Given the description of an element on the screen output the (x, y) to click on. 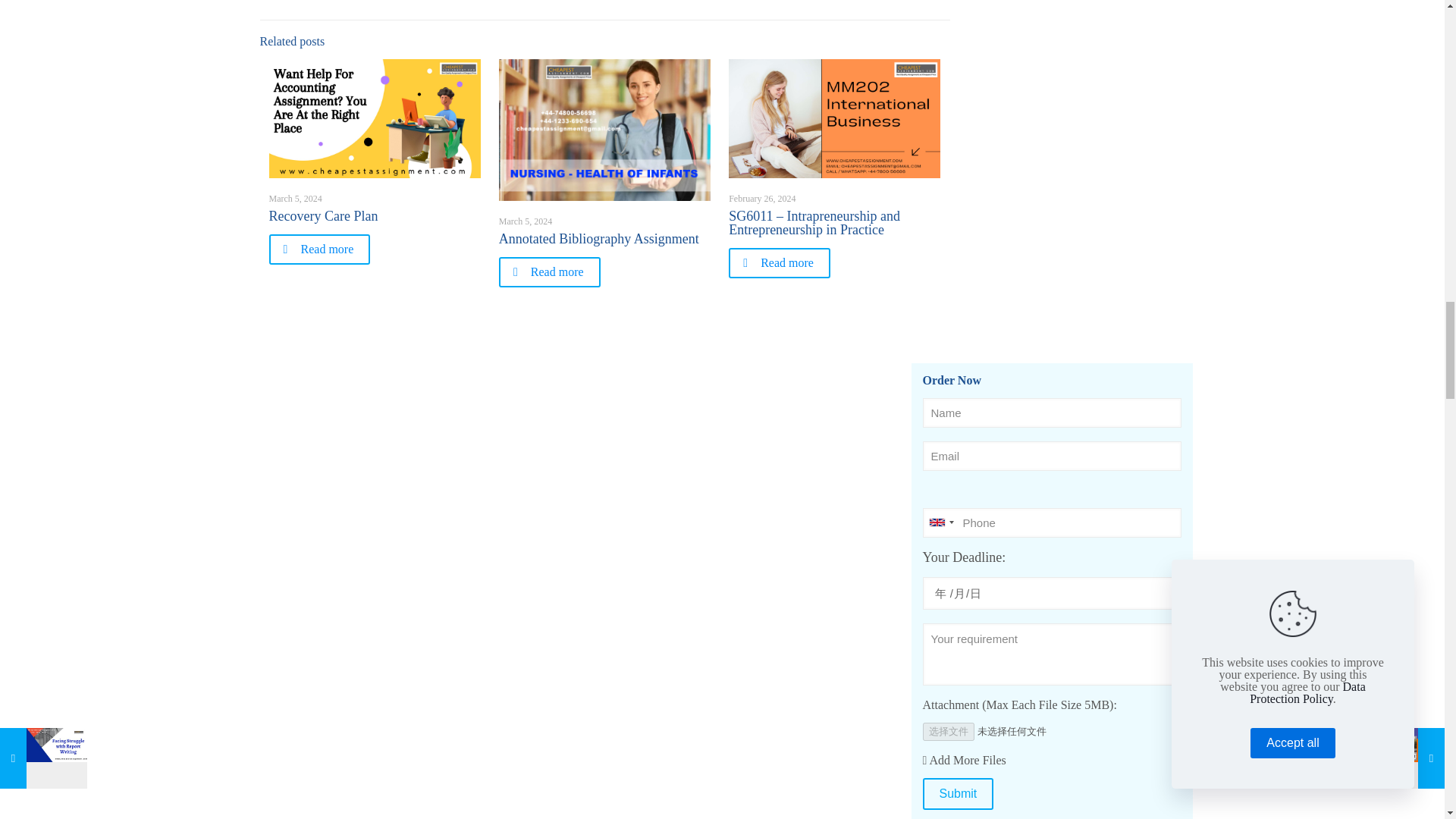
Submit (956, 793)
